Given the description of an element on the screen output the (x, y) to click on. 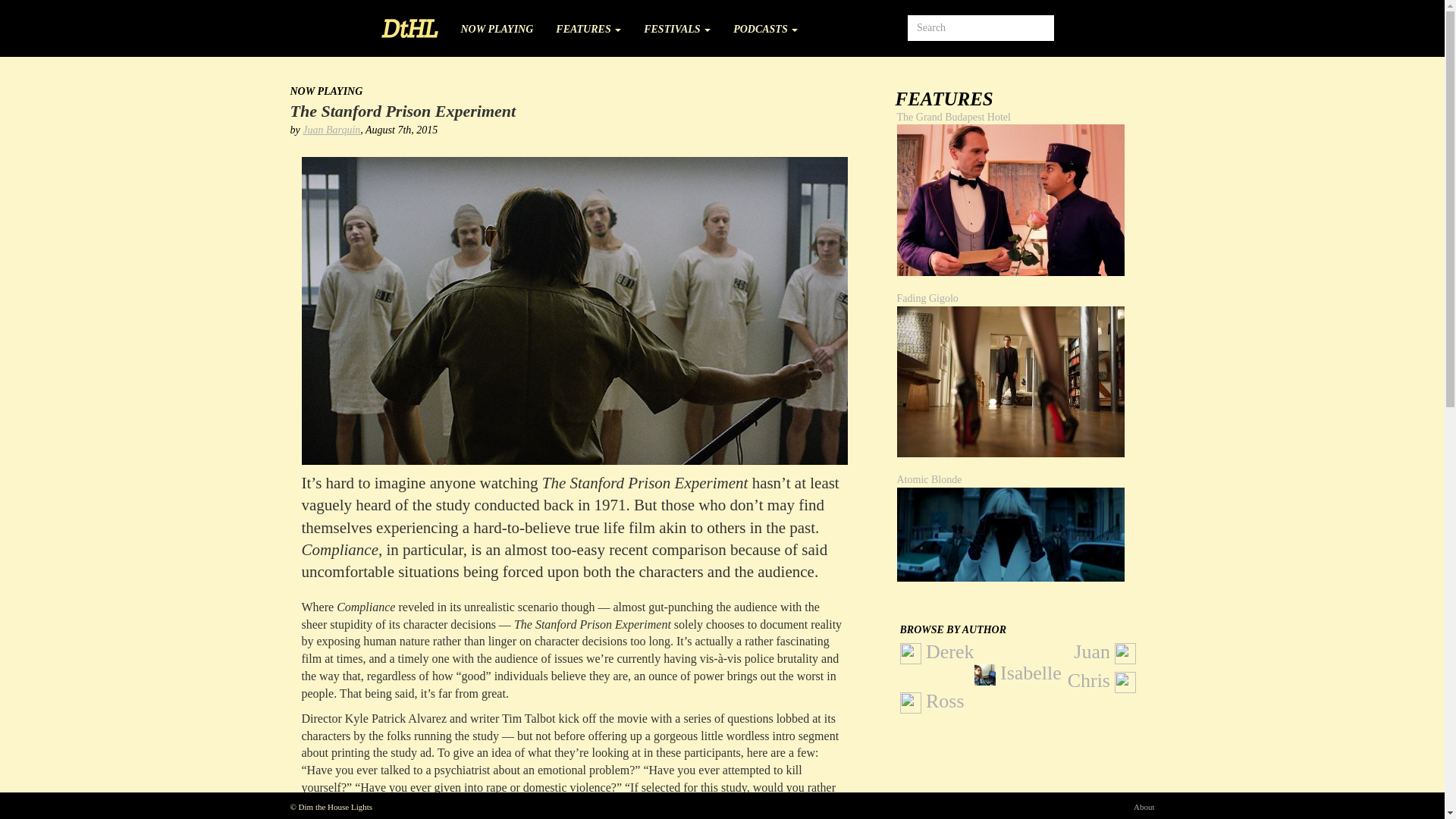
The Stanford Prison Experiment (402, 110)
NOW PLAYING (496, 24)
The Grand Budapest Hotel (1010, 200)
The Stanford Prison Experiment (402, 110)
The Grand Budapest Hotel (1025, 199)
Fading Gigolo (1010, 381)
Derek (936, 651)
Fading Gigolo (1025, 381)
Atomic Blonde (1025, 534)
Juan (1104, 651)
FEATURES (587, 24)
FESTIVALS (676, 24)
Juan Barquin (330, 129)
PODCASTS (765, 24)
NOW PLAYING (325, 91)
